Given the description of an element on the screen output the (x, y) to click on. 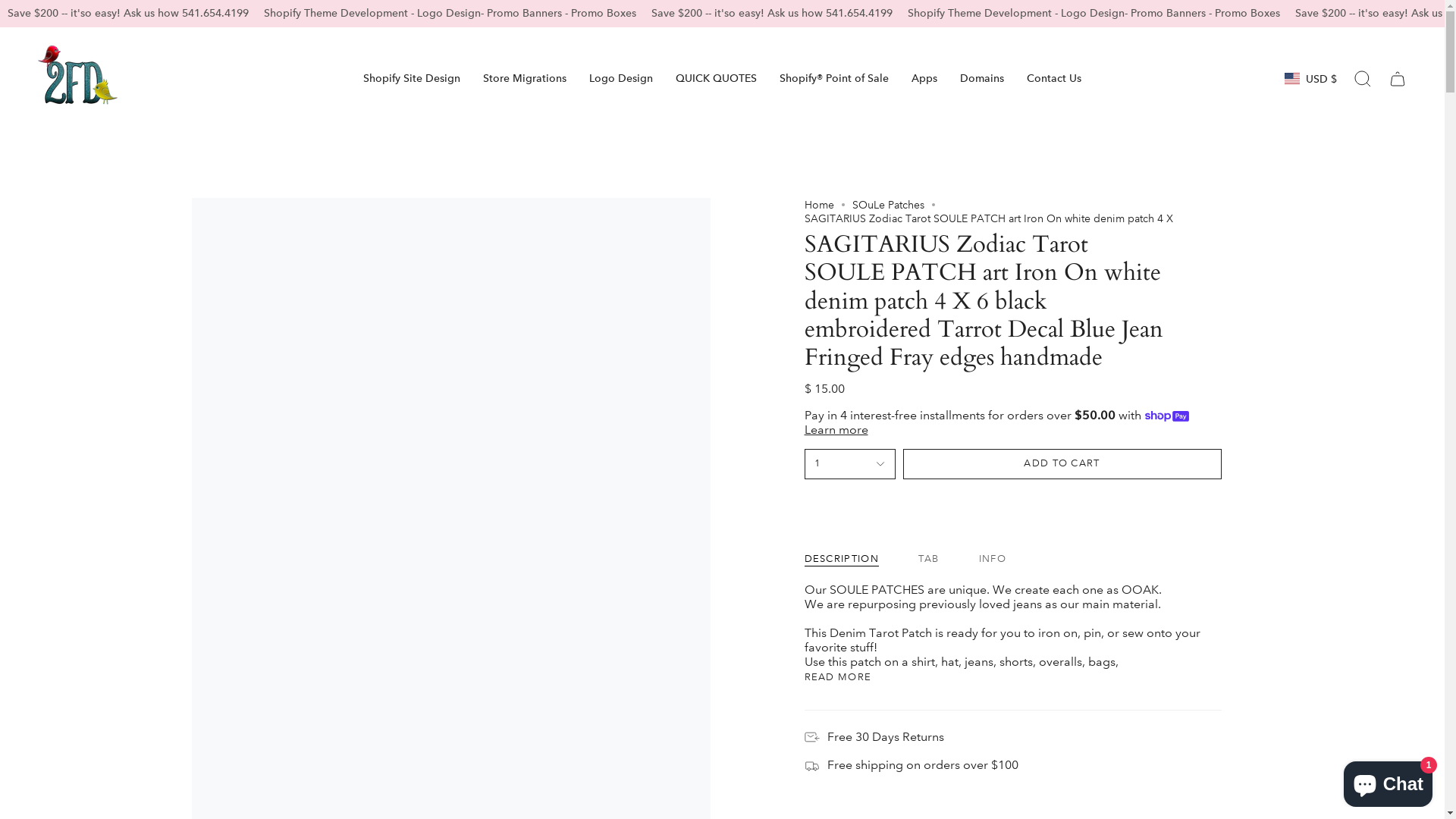
Shopify online store chat Element type: hover (1388, 780)
Apps Element type: text (924, 78)
Home Element type: text (818, 204)
QUICK QUOTES Element type: text (716, 78)
USD $ Element type: text (1310, 78)
Shopify Site Design Element type: text (411, 78)
ADD TO CART Element type: text (1061, 463)
1 Element type: text (848, 463)
READ MORE Element type: text (837, 677)
Logo Design Element type: text (620, 78)
SOuLe Patches Element type: text (888, 204)
Domains Element type: text (981, 78)
Store Migrations Element type: text (524, 78)
Cart Element type: text (1397, 78)
Contact Us Element type: text (1053, 78)
